Given the description of an element on the screen output the (x, y) to click on. 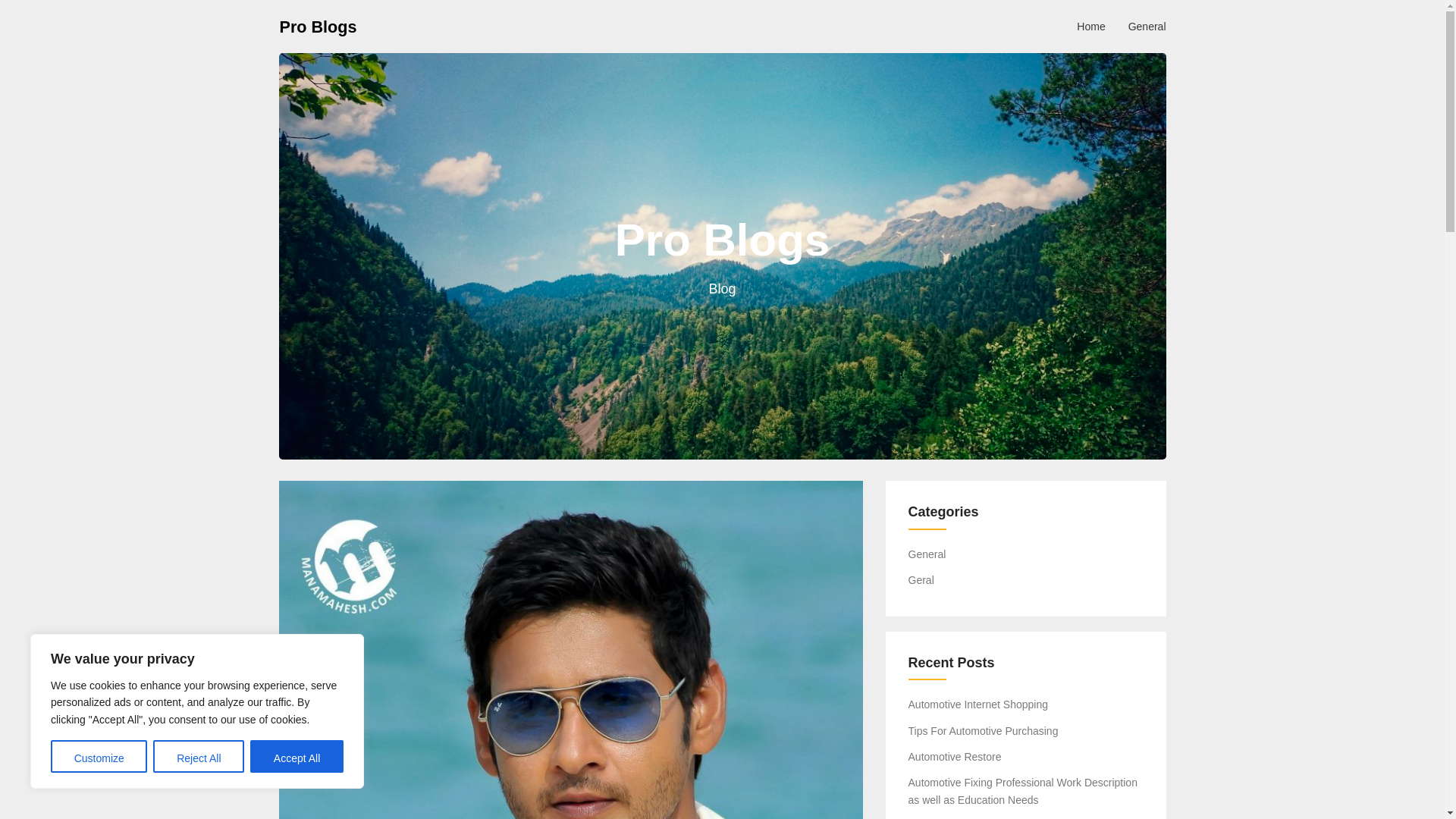
General (1146, 26)
Reject All (198, 756)
Tips For Automotive Purchasing (983, 730)
General (927, 553)
Home (1090, 26)
Accept All (296, 756)
Automotive Restore (954, 756)
Automotive Internet Shopping (978, 704)
Pro Blogs (317, 26)
Geral (921, 580)
